Given the description of an element on the screen output the (x, y) to click on. 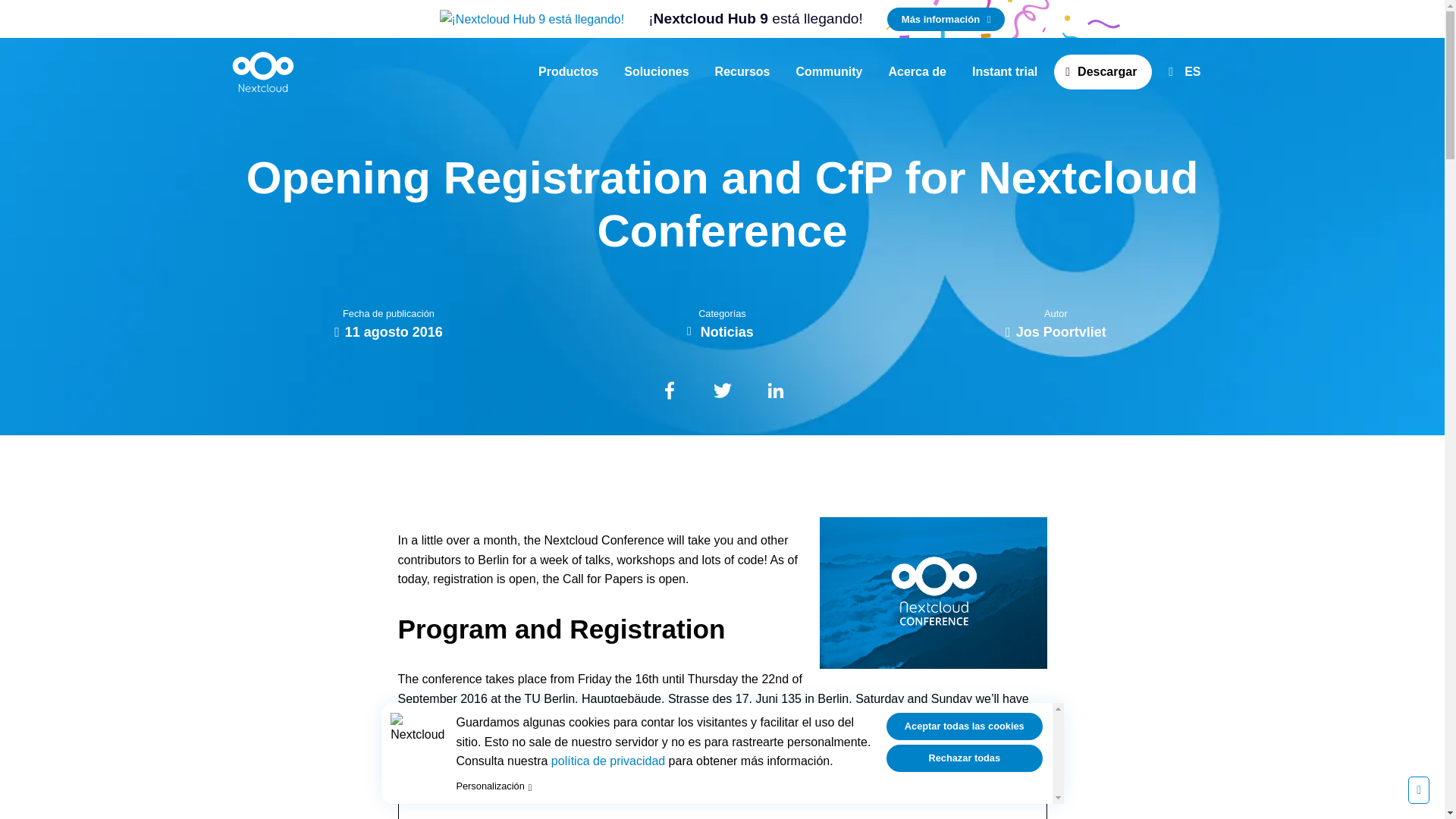
Recursos (742, 71)
Productos (568, 71)
Productos (568, 71)
Nextcloud (263, 71)
Community (829, 71)
Soluciones (655, 71)
